Given the description of an element on the screen output the (x, y) to click on. 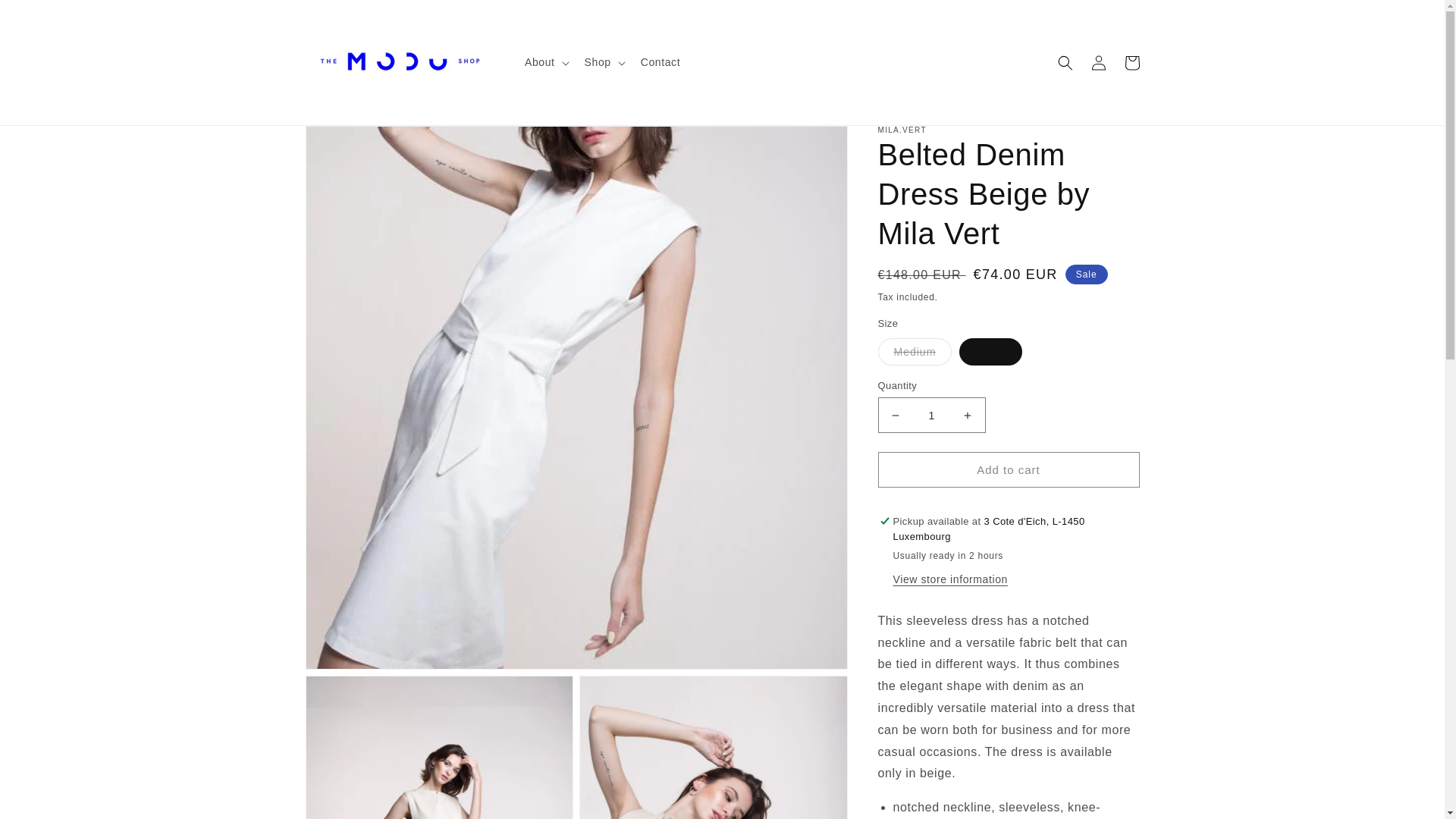
1 (931, 415)
Skip to content (45, 17)
